Given the description of an element on the screen output the (x, y) to click on. 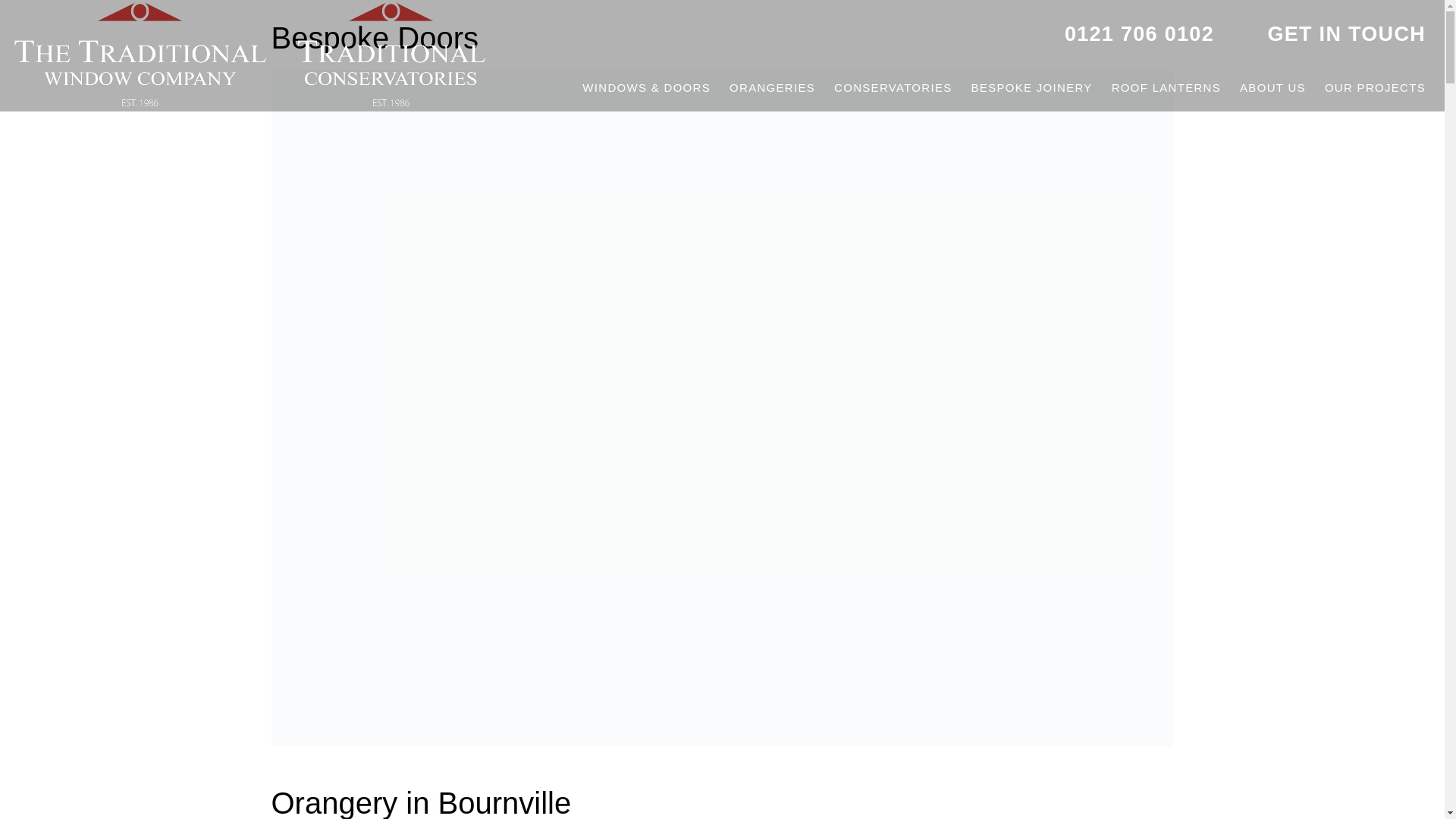
ORANGERIES (772, 88)
Bespoke Doors (721, 406)
CONSERVATORIES (893, 88)
Bespoke Doors (374, 37)
ABOUT US (1273, 88)
GET IN TOUCH (1345, 33)
BESPOKE JOINERY (1032, 88)
Orangery in Bournville (421, 802)
ROOF LANTERNS (1166, 88)
OUR PROJECTS (1374, 88)
0121 706 0102 (1139, 33)
